Given the description of an element on the screen output the (x, y) to click on. 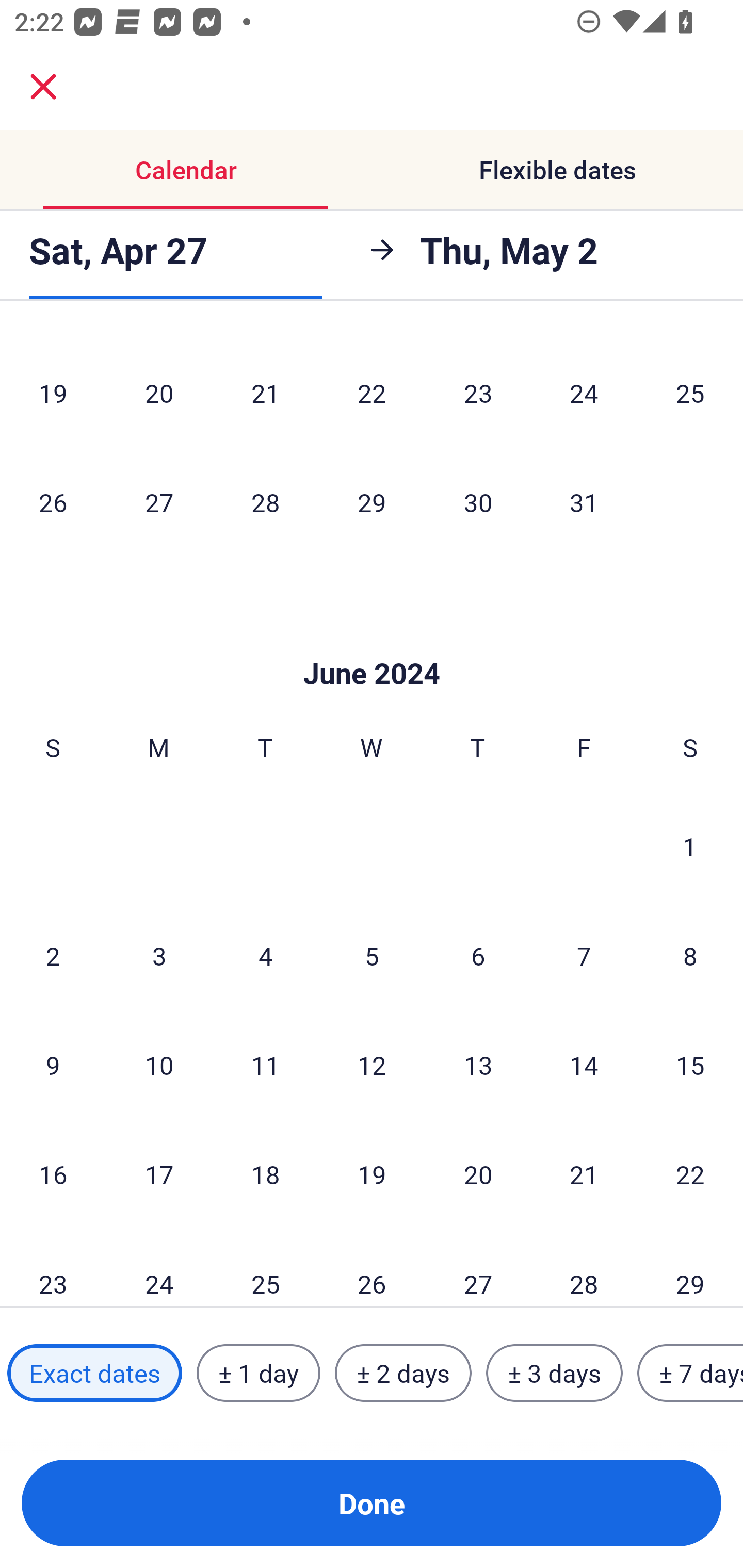
close. (43, 86)
Flexible dates (557, 170)
19 Sunday, May 19, 2024 (53, 392)
20 Monday, May 20, 2024 (159, 392)
21 Tuesday, May 21, 2024 (265, 392)
22 Wednesday, May 22, 2024 (371, 392)
23 Thursday, May 23, 2024 (477, 392)
24 Friday, May 24, 2024 (584, 392)
25 Saturday, May 25, 2024 (690, 392)
26 Sunday, May 26, 2024 (53, 502)
27 Monday, May 27, 2024 (159, 502)
28 Tuesday, May 28, 2024 (265, 502)
29 Wednesday, May 29, 2024 (371, 502)
30 Thursday, May 30, 2024 (477, 502)
31 Friday, May 31, 2024 (584, 502)
Skip to Done (371, 642)
1 Saturday, June 1, 2024 (689, 845)
2 Sunday, June 2, 2024 (53, 955)
3 Monday, June 3, 2024 (159, 955)
4 Tuesday, June 4, 2024 (265, 955)
5 Wednesday, June 5, 2024 (371, 955)
6 Thursday, June 6, 2024 (477, 955)
7 Friday, June 7, 2024 (584, 955)
8 Saturday, June 8, 2024 (690, 955)
9 Sunday, June 9, 2024 (53, 1064)
10 Monday, June 10, 2024 (159, 1064)
11 Tuesday, June 11, 2024 (265, 1064)
12 Wednesday, June 12, 2024 (371, 1064)
13 Thursday, June 13, 2024 (477, 1064)
14 Friday, June 14, 2024 (584, 1064)
15 Saturday, June 15, 2024 (690, 1064)
16 Sunday, June 16, 2024 (53, 1174)
17 Monday, June 17, 2024 (159, 1174)
18 Tuesday, June 18, 2024 (265, 1174)
19 Wednesday, June 19, 2024 (371, 1174)
20 Thursday, June 20, 2024 (477, 1174)
21 Friday, June 21, 2024 (584, 1174)
22 Saturday, June 22, 2024 (690, 1174)
23 Sunday, June 23, 2024 (53, 1268)
24 Monday, June 24, 2024 (159, 1268)
25 Tuesday, June 25, 2024 (265, 1268)
26 Wednesday, June 26, 2024 (371, 1268)
27 Thursday, June 27, 2024 (477, 1268)
28 Friday, June 28, 2024 (584, 1268)
29 Saturday, June 29, 2024 (690, 1268)
Exact dates (94, 1372)
± 1 day (258, 1372)
± 2 days (403, 1372)
± 3 days (553, 1372)
± 7 days (690, 1372)
